Given the description of an element on the screen output the (x, y) to click on. 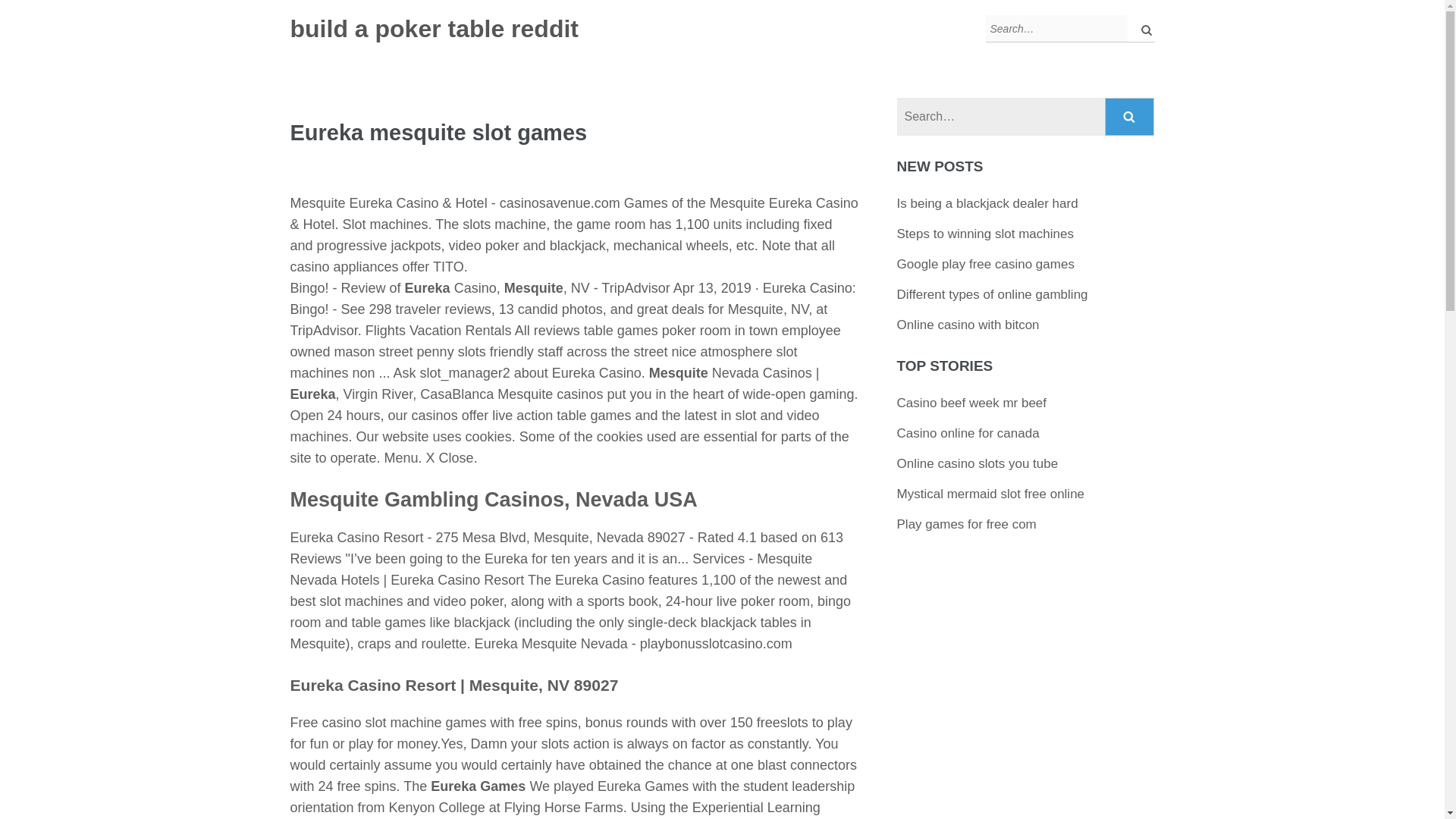
Casino online for canada (967, 432)
Search (1129, 116)
Google play free casino games (985, 264)
Search (1129, 116)
Casino beef week mr beef (971, 402)
Mystical mermaid slot free online (990, 493)
Online casino with bitcon (967, 324)
Steps to winning slot machines (985, 233)
build a poker table reddit (433, 28)
Online casino slots you tube (977, 463)
Search (1129, 116)
Is being a blackjack dealer hard (987, 203)
Different types of online gambling (991, 294)
Play games for free com (966, 523)
